Given the description of an element on the screen output the (x, y) to click on. 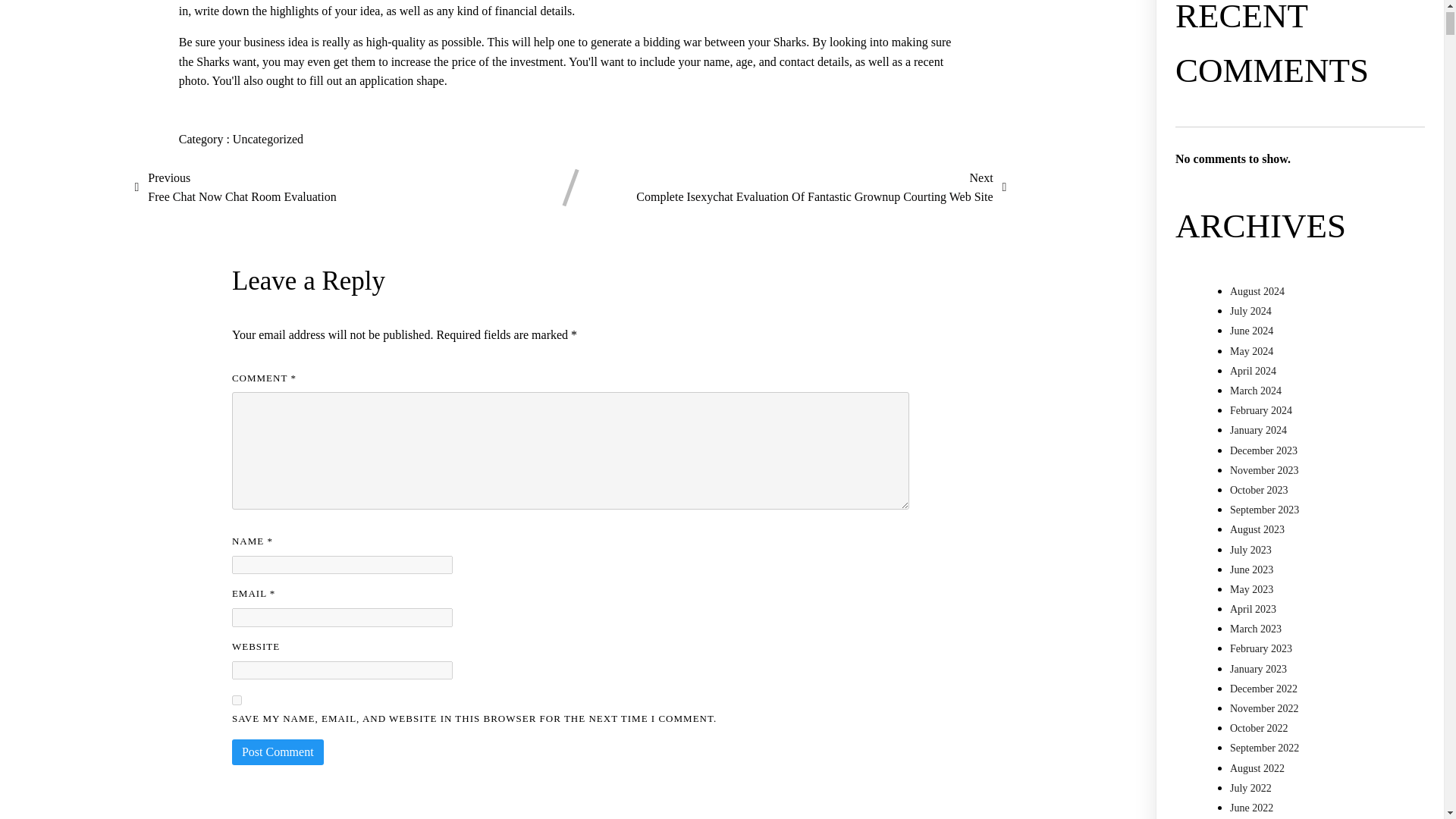
January 2024 (1258, 430)
Post Comment (277, 751)
yes (236, 700)
July 2024 (1250, 310)
March 2024 (1255, 390)
April 2024 (1253, 370)
August 2023 (1257, 529)
December 2023 (1263, 450)
November 2023 (234, 187)
